Given the description of an element on the screen output the (x, y) to click on. 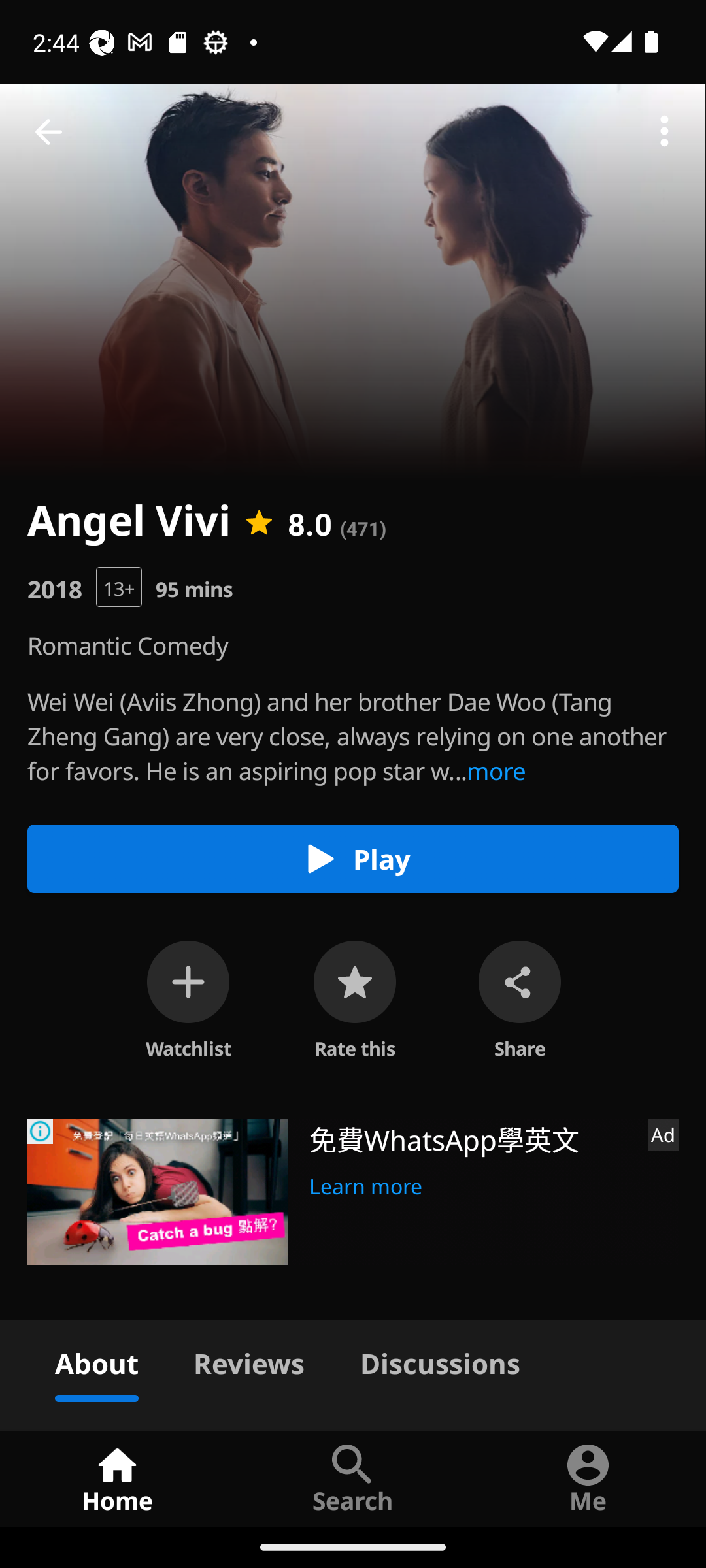
More (664, 131)
off (187, 981)
免費WhatsApp學英文 Ad Learn more Ad Choices Icon (352, 1191)
Ad Choices Icon (39, 1130)
免費WhatsApp學英文 (471, 1137)
Learn more (365, 1183)
Reviews (248, 1360)
Discussions (439, 1360)
Search (352, 1478)
Me (588, 1478)
